Given the description of an element on the screen output the (x, y) to click on. 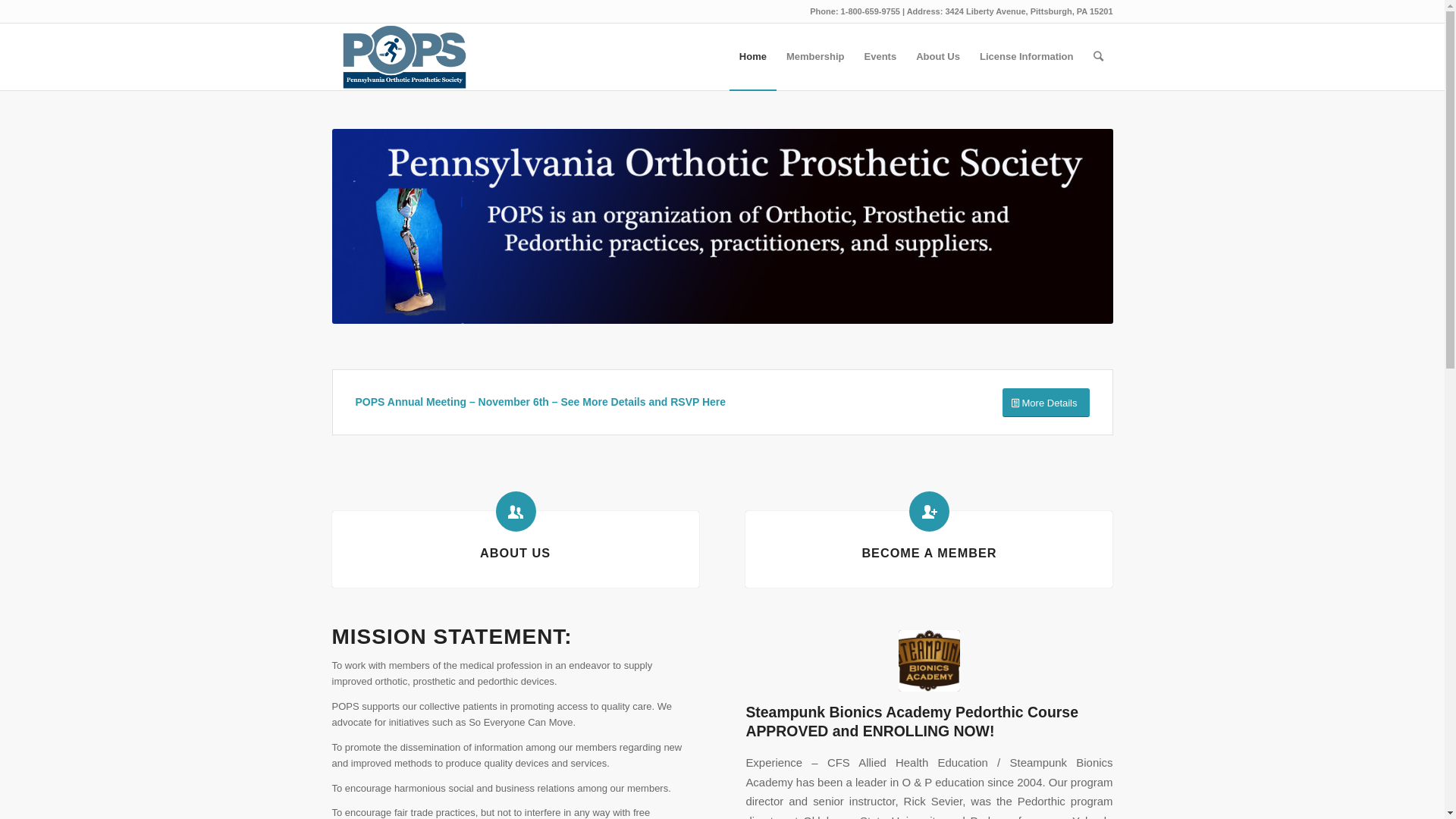
More Details Element type: text (1045, 402)
Become a Member Element type: hover (929, 511)
ABOUT US Element type: text (515, 552)
Membership Element type: text (815, 56)
pops_new_logo Element type: hover (722, 225)
Home Element type: text (752, 56)
Events Element type: text (880, 56)
License Information Element type: text (1026, 56)
About Us Element type: hover (515, 511)
About Us Element type: text (937, 56)
BECOME A MEMBER Element type: text (928, 552)
